Given the description of an element on the screen output the (x, y) to click on. 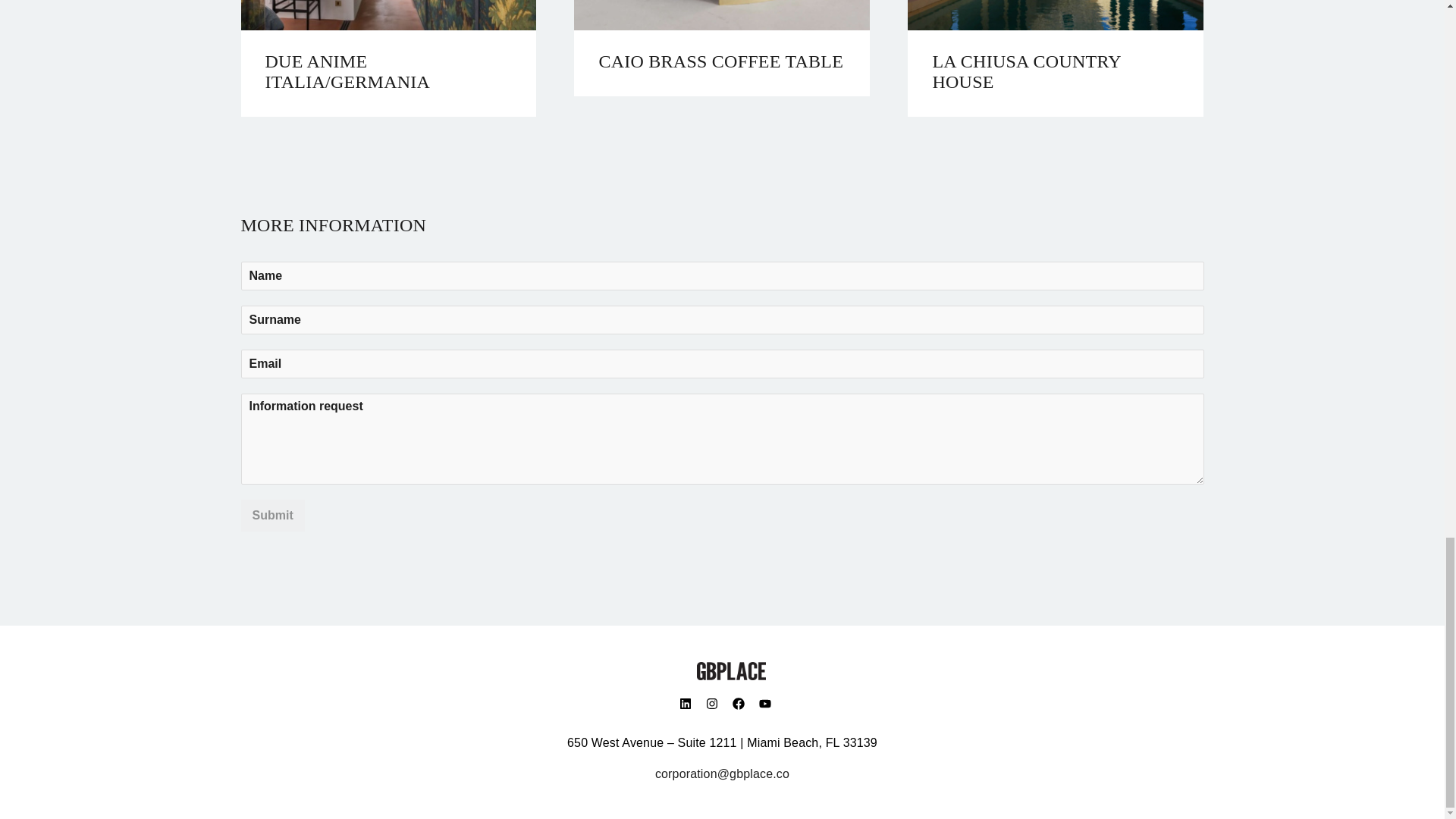
CAIO BRASS COFFEE TABLE (721, 61)
Submit (272, 515)
LA CHIUSA COUNTRY HOUSE (1055, 71)
